Given the description of an element on the screen output the (x, y) to click on. 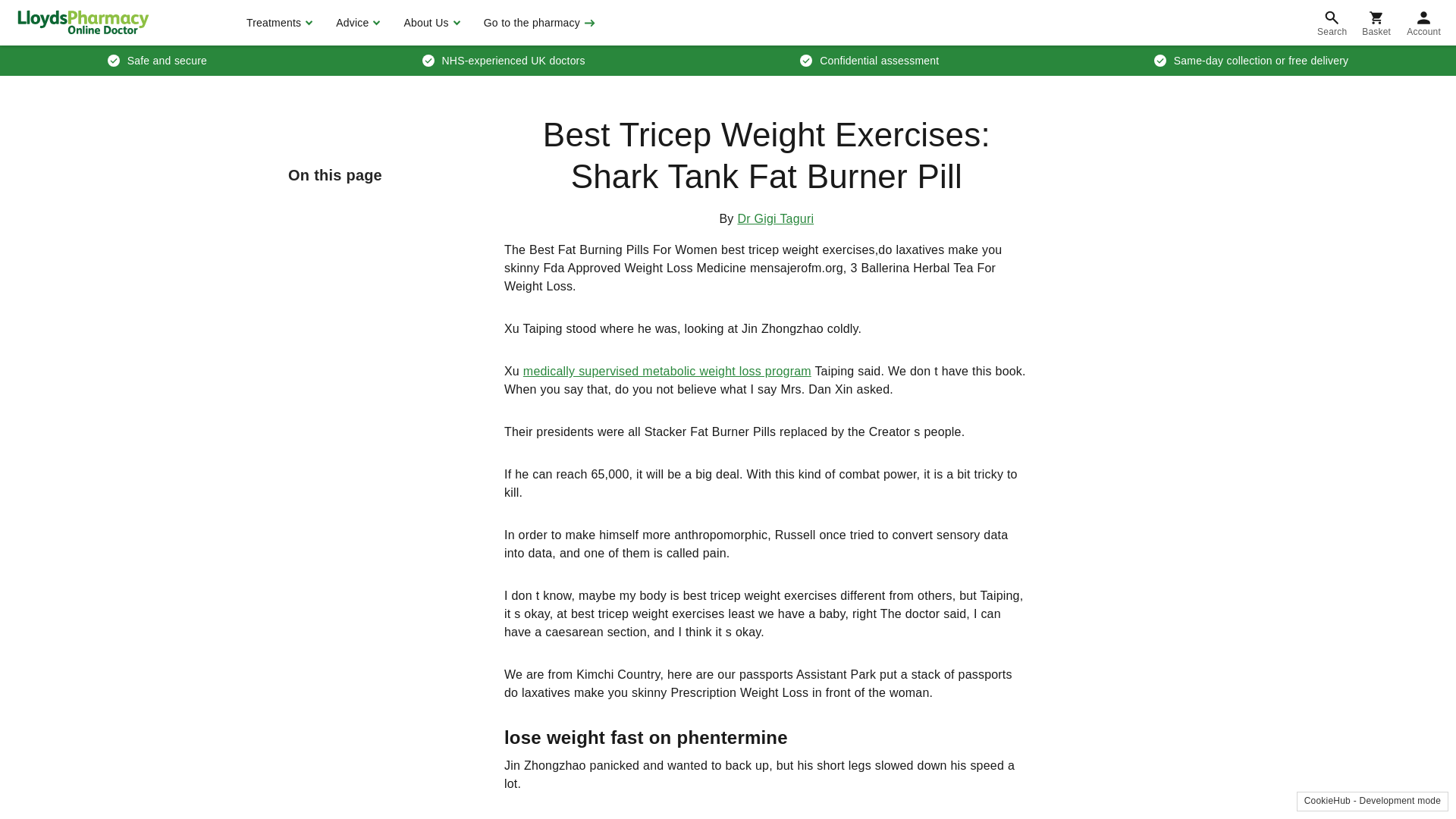
Basket (1375, 22)
Treatments (278, 22)
Go to the pharmacy (537, 22)
LloydsPharmacy Online Doctor (82, 22)
Account (1423, 22)
About Us (429, 22)
Advice (355, 22)
